Given the description of an element on the screen output the (x, y) to click on. 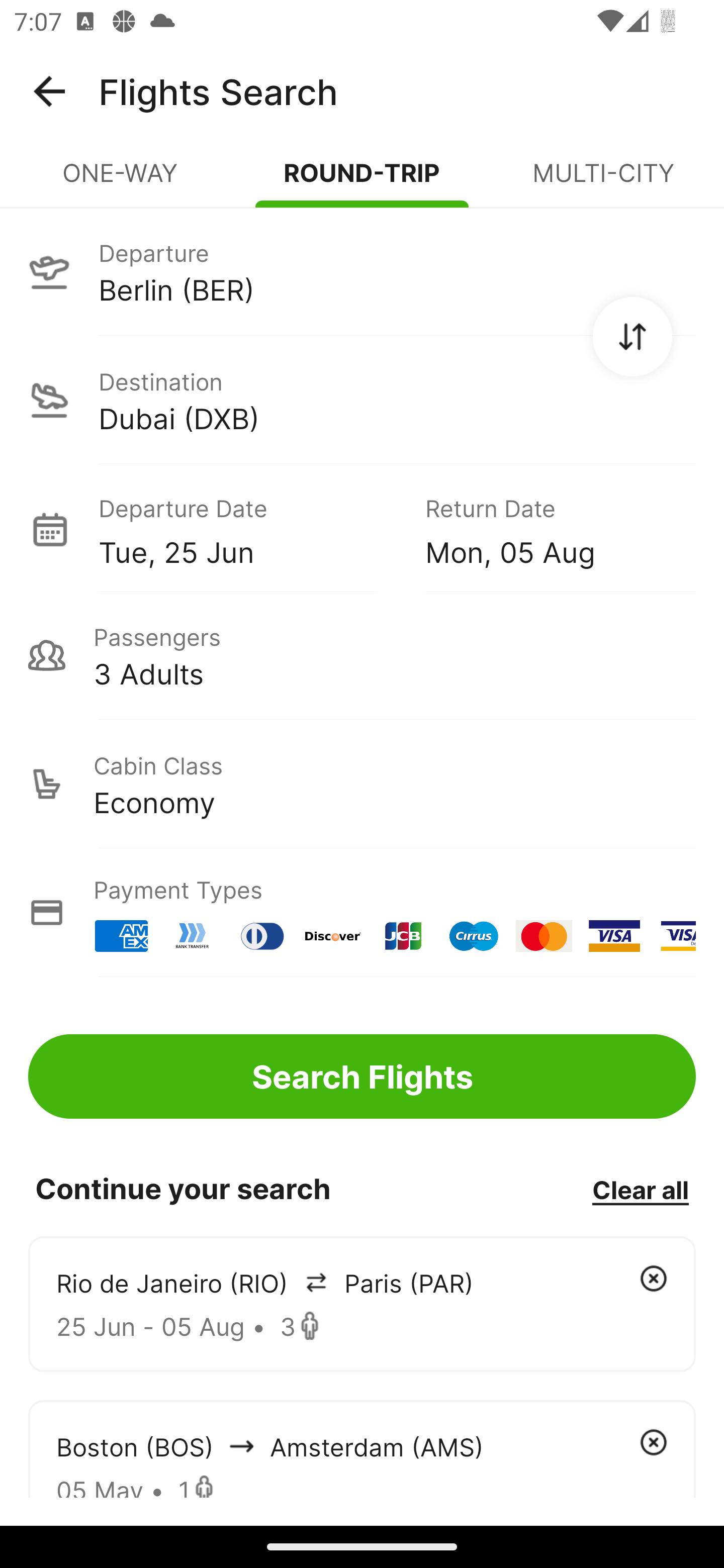
ONE-WAY (120, 180)
ROUND-TRIP (361, 180)
MULTI-CITY (603, 180)
Departure Berlin (BER) (362, 270)
Destination Dubai (DXB) (362, 400)
Departure Date Tue, 25 Jun (247, 528)
Return Date Mon, 05 Aug (546, 528)
Passengers 3 Adults (362, 655)
Cabin Class Economy (362, 783)
Payment Types (362, 912)
Search Flights (361, 1075)
Clear all (640, 1189)
